Given the description of an element on the screen output the (x, y) to click on. 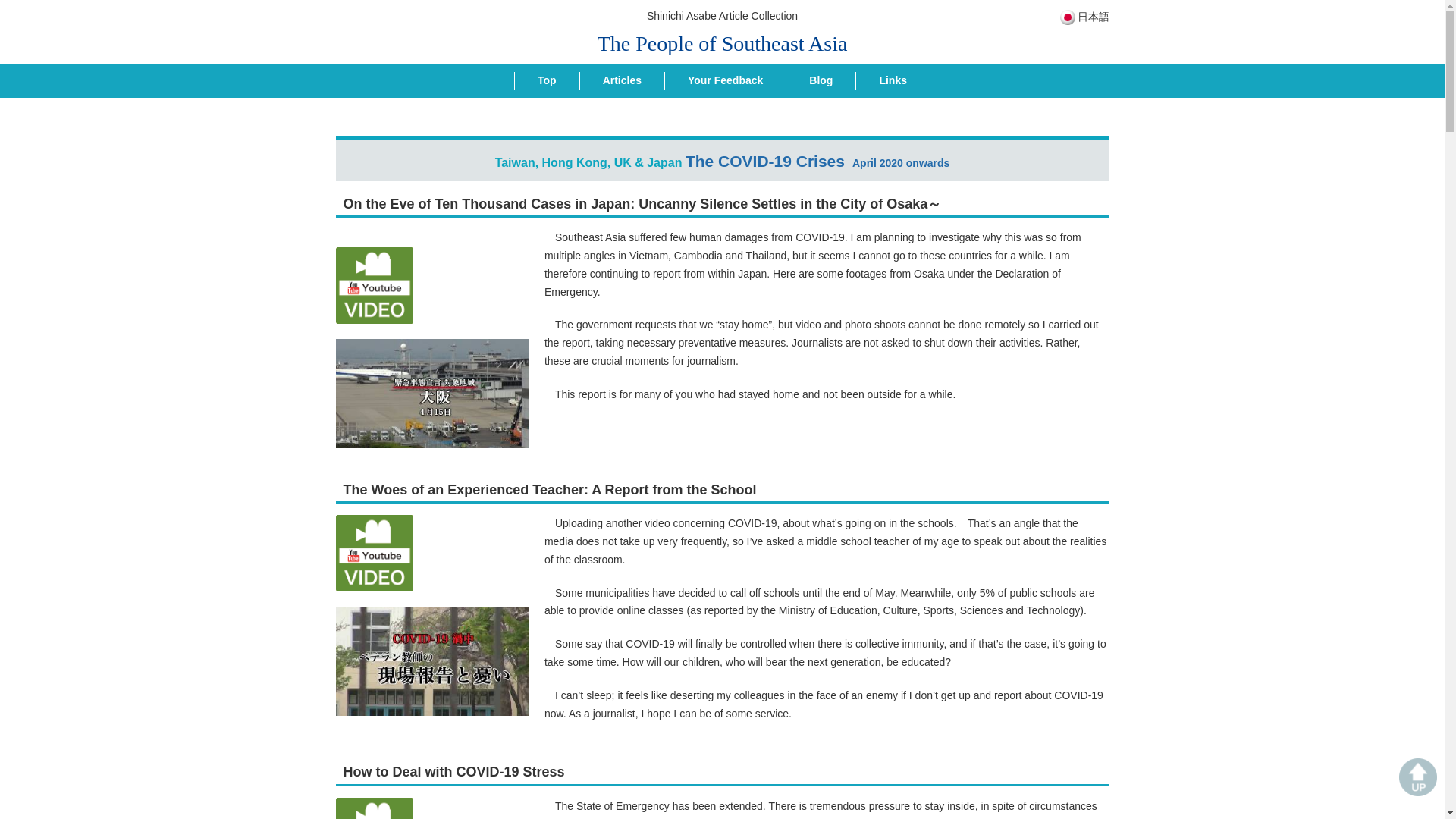
Blog (821, 81)
The People of Southeast Asia (721, 43)
Links (893, 81)
Japanese (1092, 16)
Articles (621, 81)
Your Feedback (725, 81)
Top (547, 81)
